Given the description of an element on the screen output the (x, y) to click on. 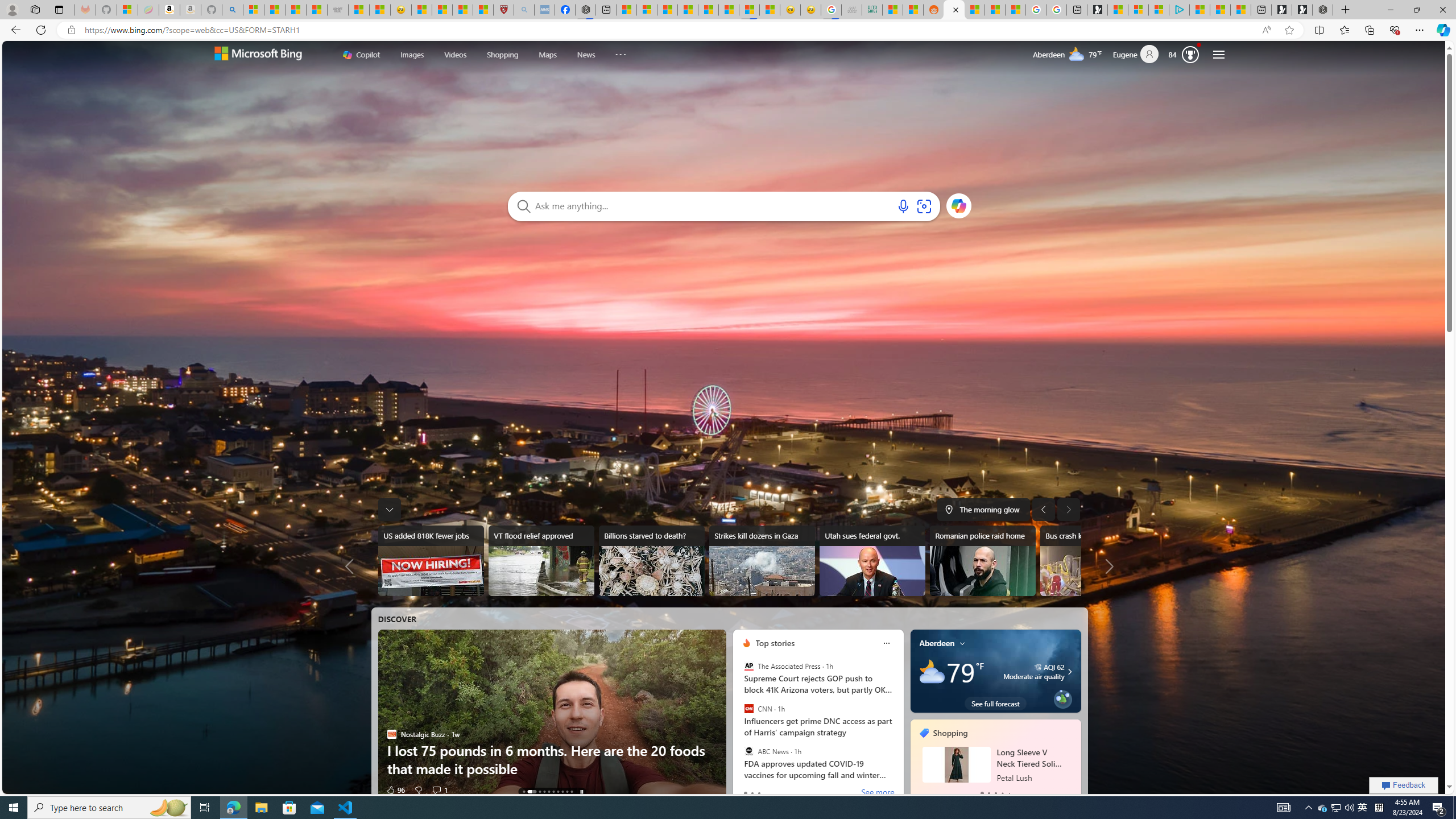
Copilot (361, 54)
AutomationID: tab-7 (562, 791)
Grow a virtual seed into a real tree (1061, 697)
Copilot (361, 54)
The Associated Press (749, 665)
VT flood relief approved (540, 560)
Search using voice (903, 205)
Billions starved to death? (651, 560)
